Given the description of an element on the screen output the (x, y) to click on. 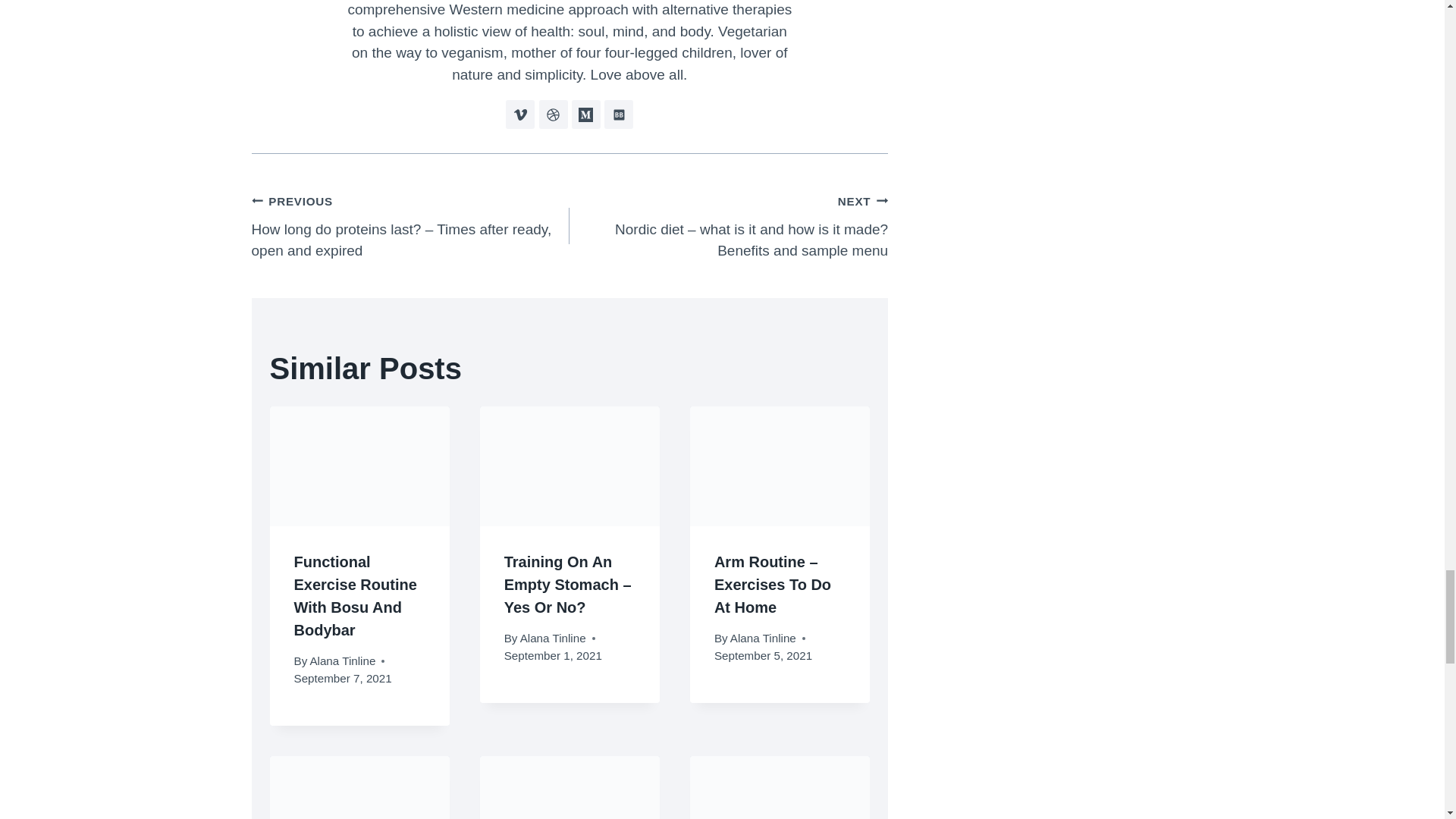
Follow Alana Tinline on Vimeo (519, 113)
Follow Alana Tinline on Dribbble (552, 113)
